Given the description of an element on the screen output the (x, y) to click on. 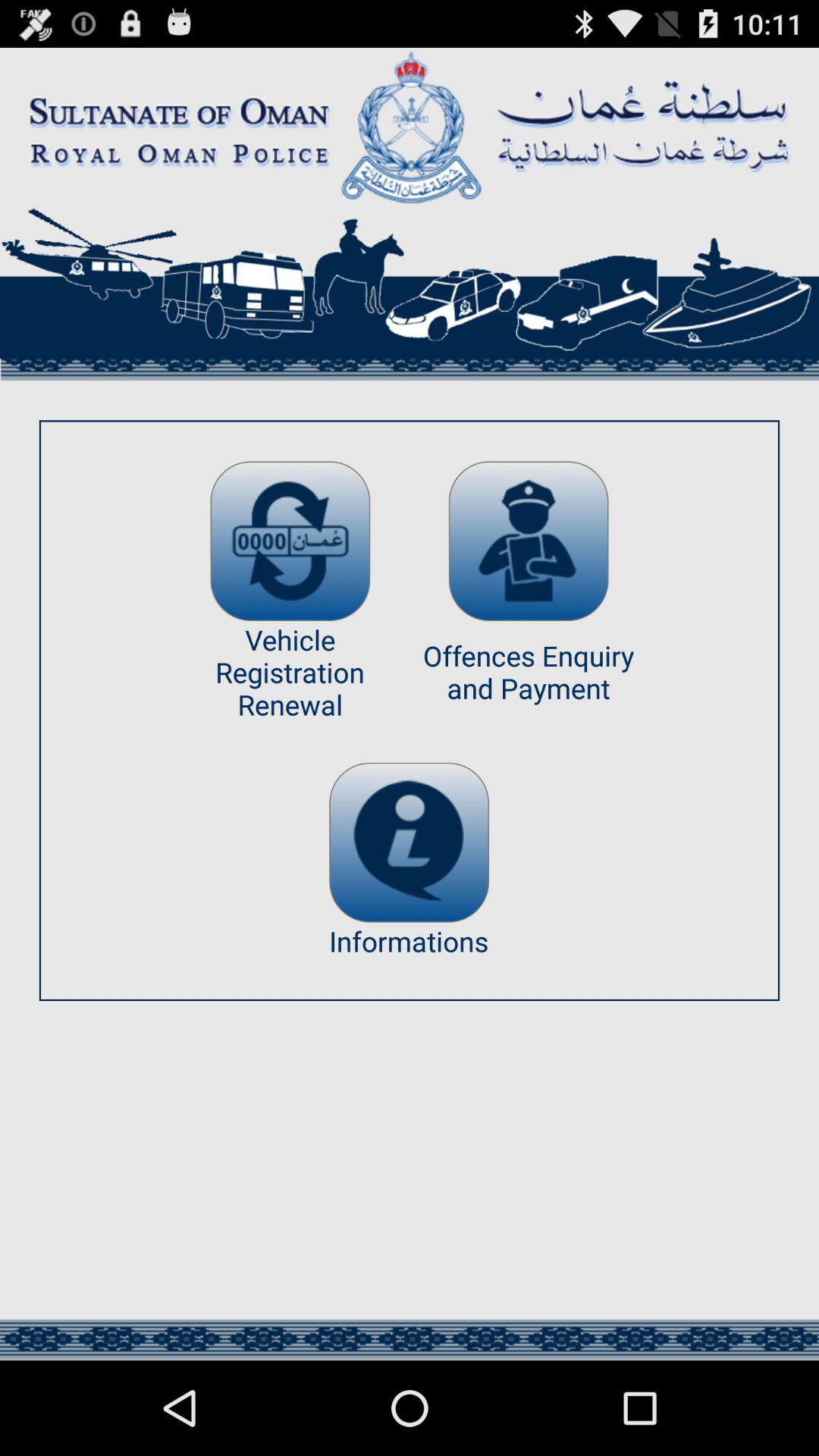
link to payment options (528, 541)
